Given the description of an element on the screen output the (x, y) to click on. 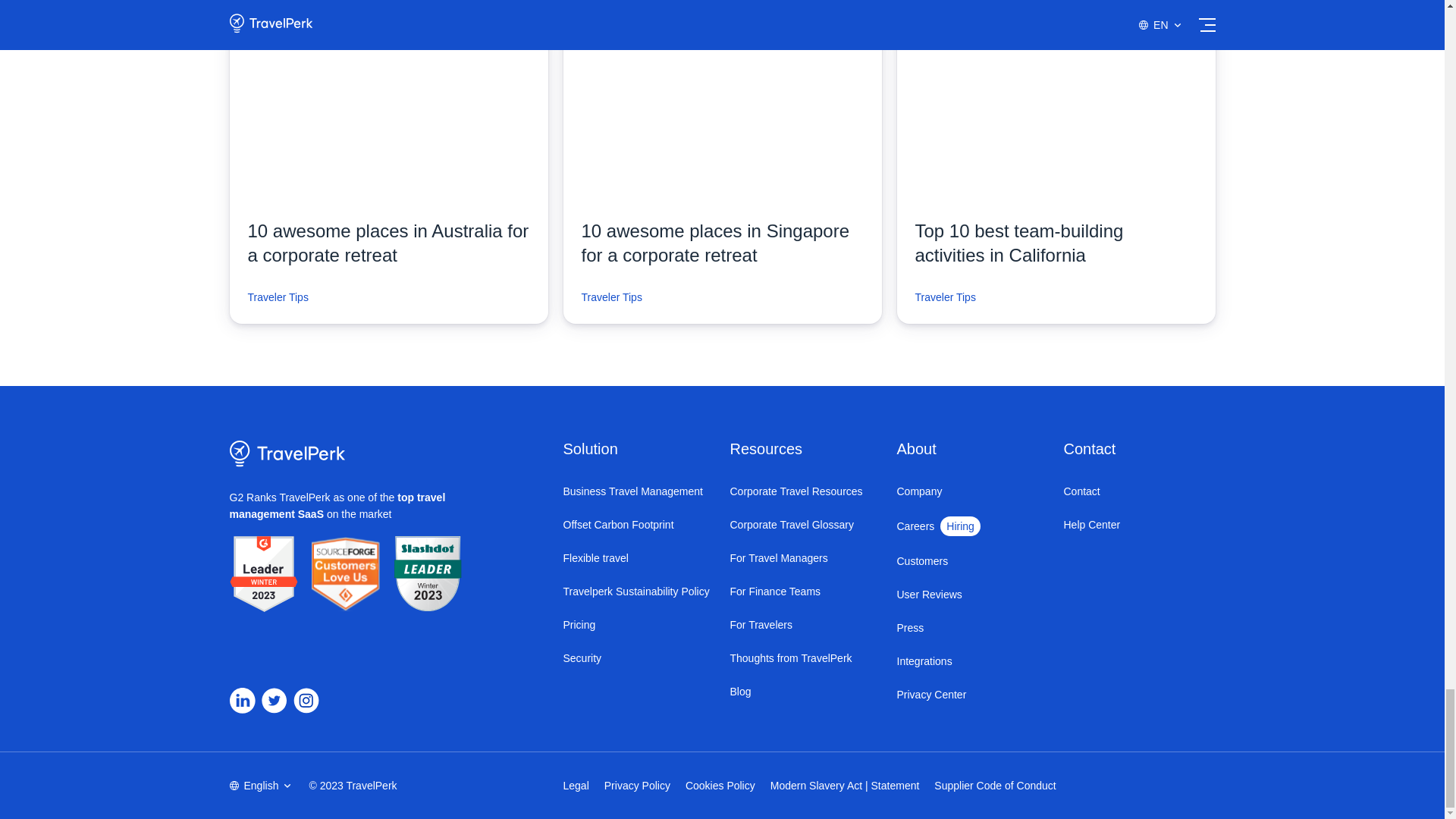
TravelPerk Logo (286, 453)
